Given the description of an element on the screen output the (x, y) to click on. 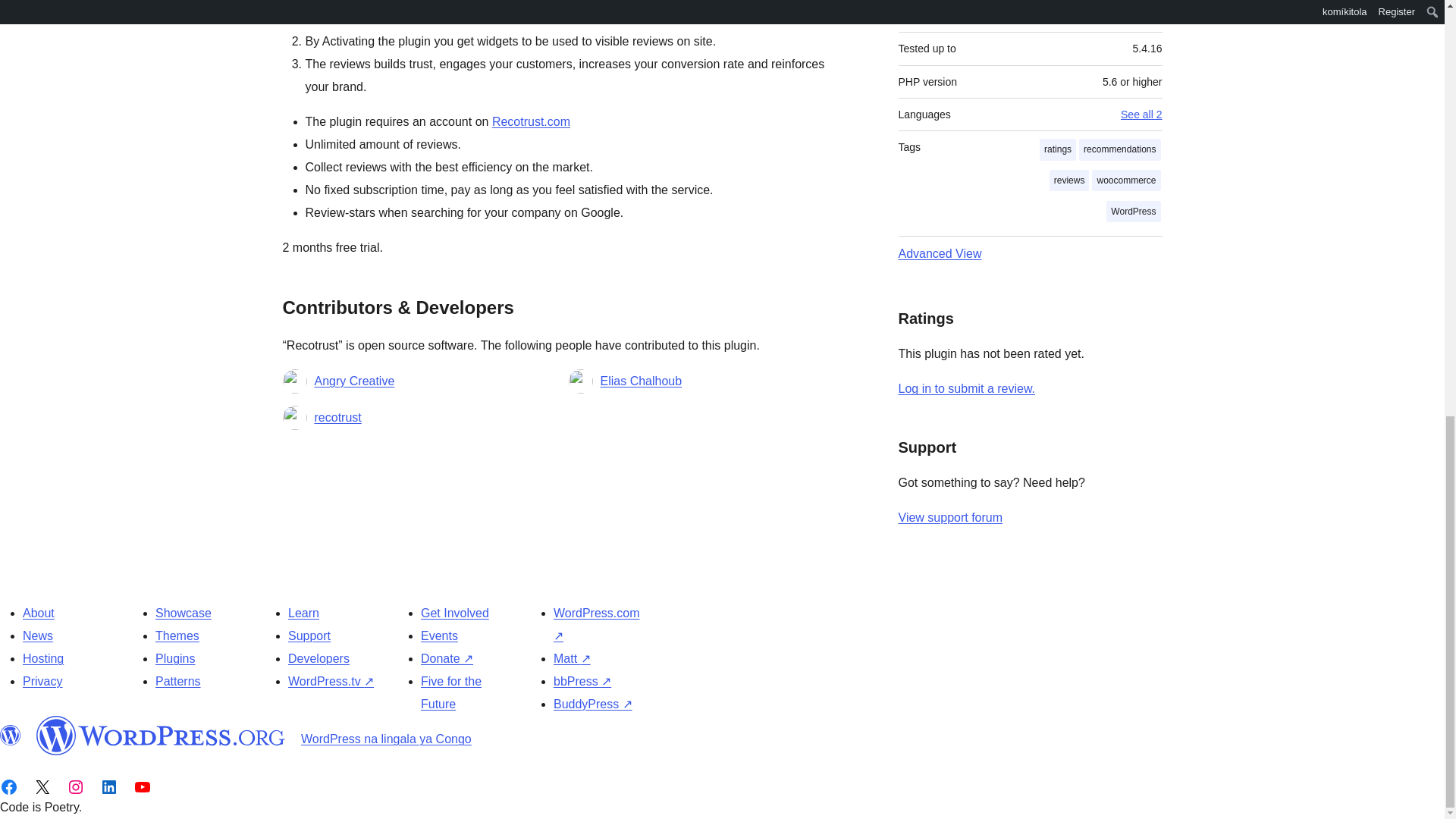
WordPress.org (10, 735)
WordPress.org (160, 735)
Log in to WordPress.org (966, 388)
Elias Chalhoub (640, 381)
Recotrust.com (531, 121)
recotrust (337, 417)
Angry Creative (354, 381)
Recotrust.com (531, 121)
